Given the description of an element on the screen output the (x, y) to click on. 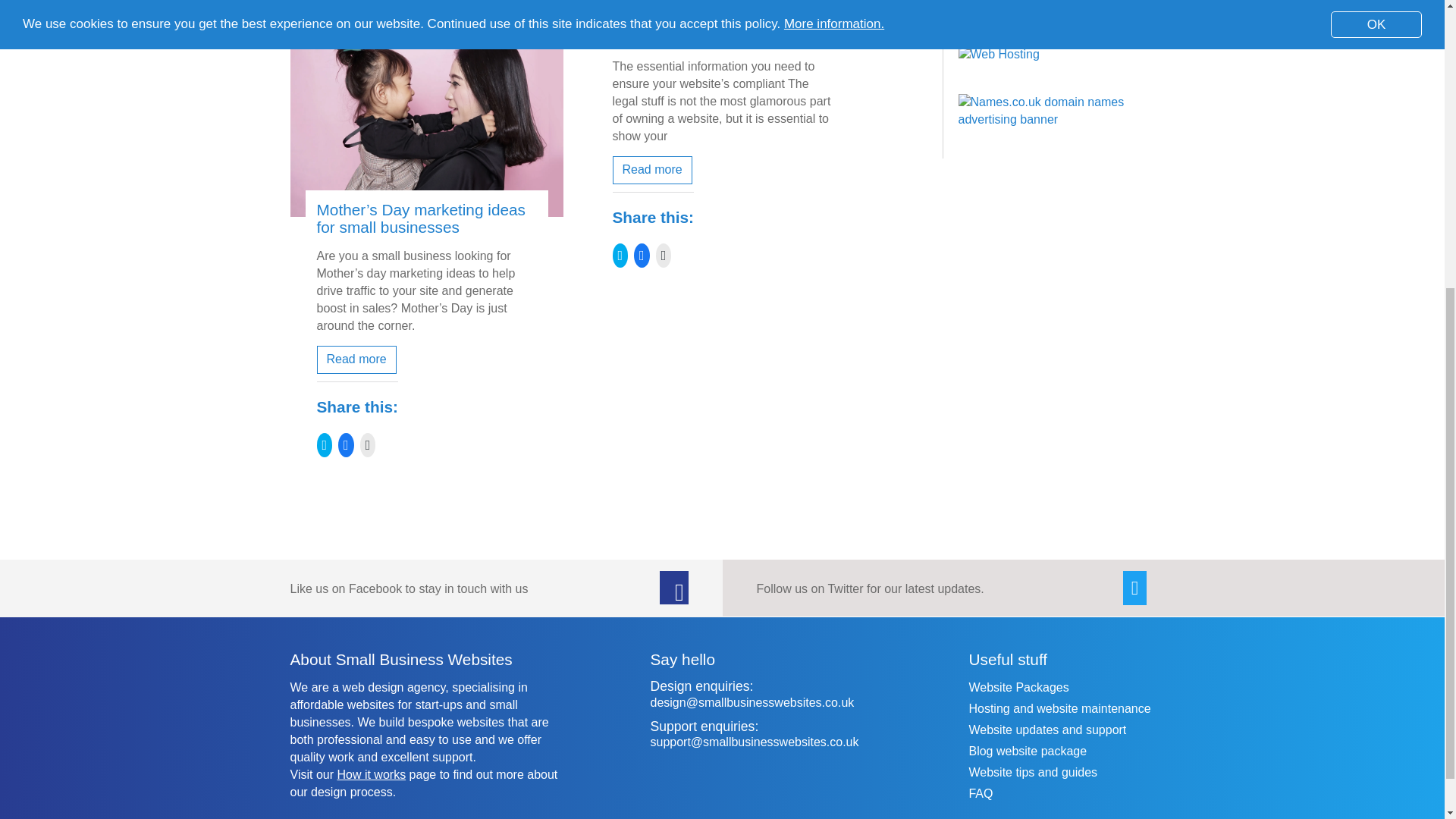
Follow us on Twitter for our latest updates. (870, 588)
Read more (652, 170)
Like us on Facebook to stay in touch with us (408, 588)
Read more (356, 359)
The Legal Requirements of Your Website (707, 28)
